Given the description of an element on the screen output the (x, y) to click on. 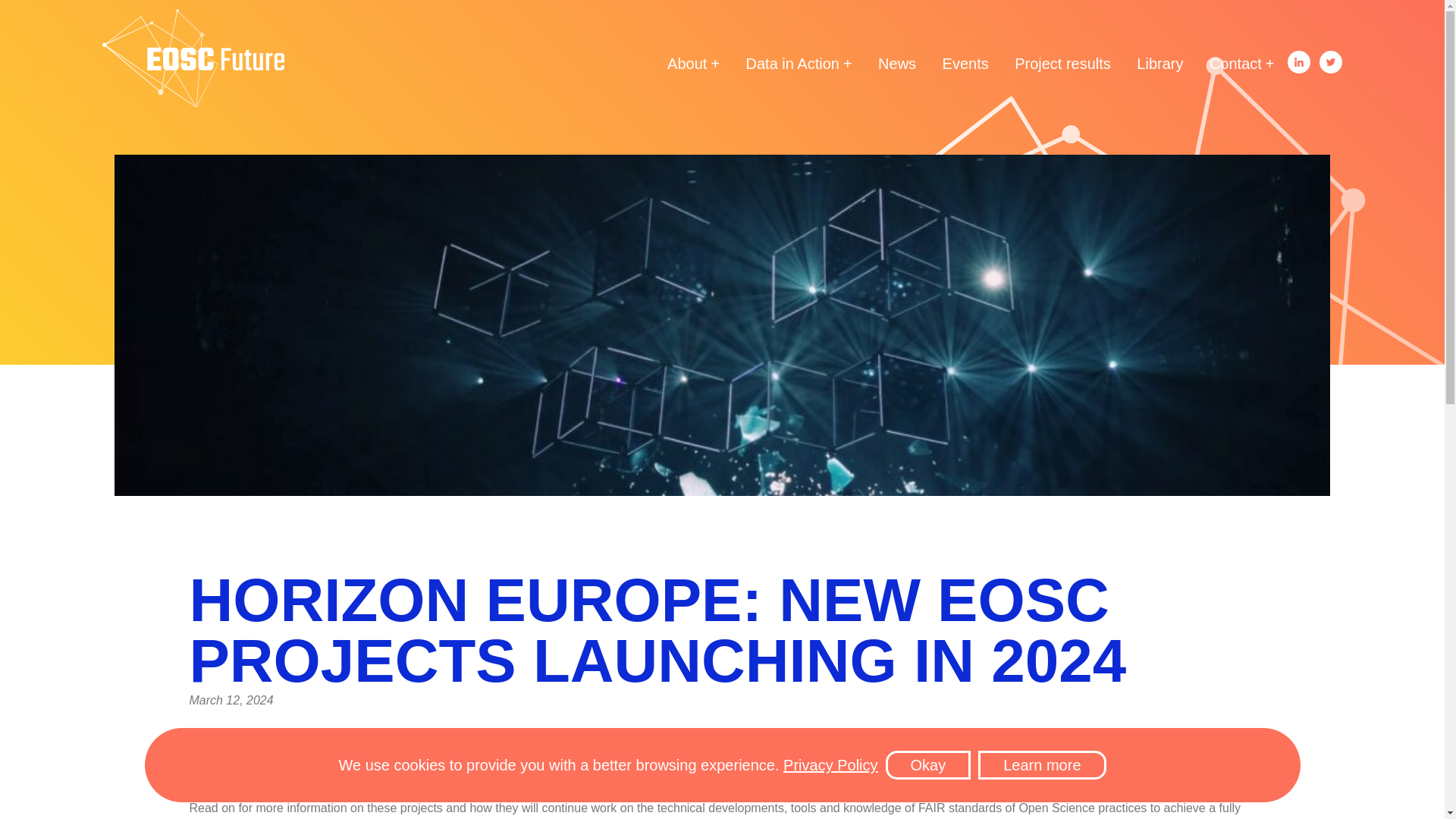
News (896, 67)
Twitter (1330, 61)
Contact (1242, 67)
Twitter (1330, 61)
EOSC Future (192, 61)
Library (1159, 67)
Data in Action (798, 67)
Events (965, 67)
Project results (1062, 67)
LinkedIn (1298, 61)
About (692, 67)
LinkedIn (1298, 61)
